Given the description of an element on the screen output the (x, y) to click on. 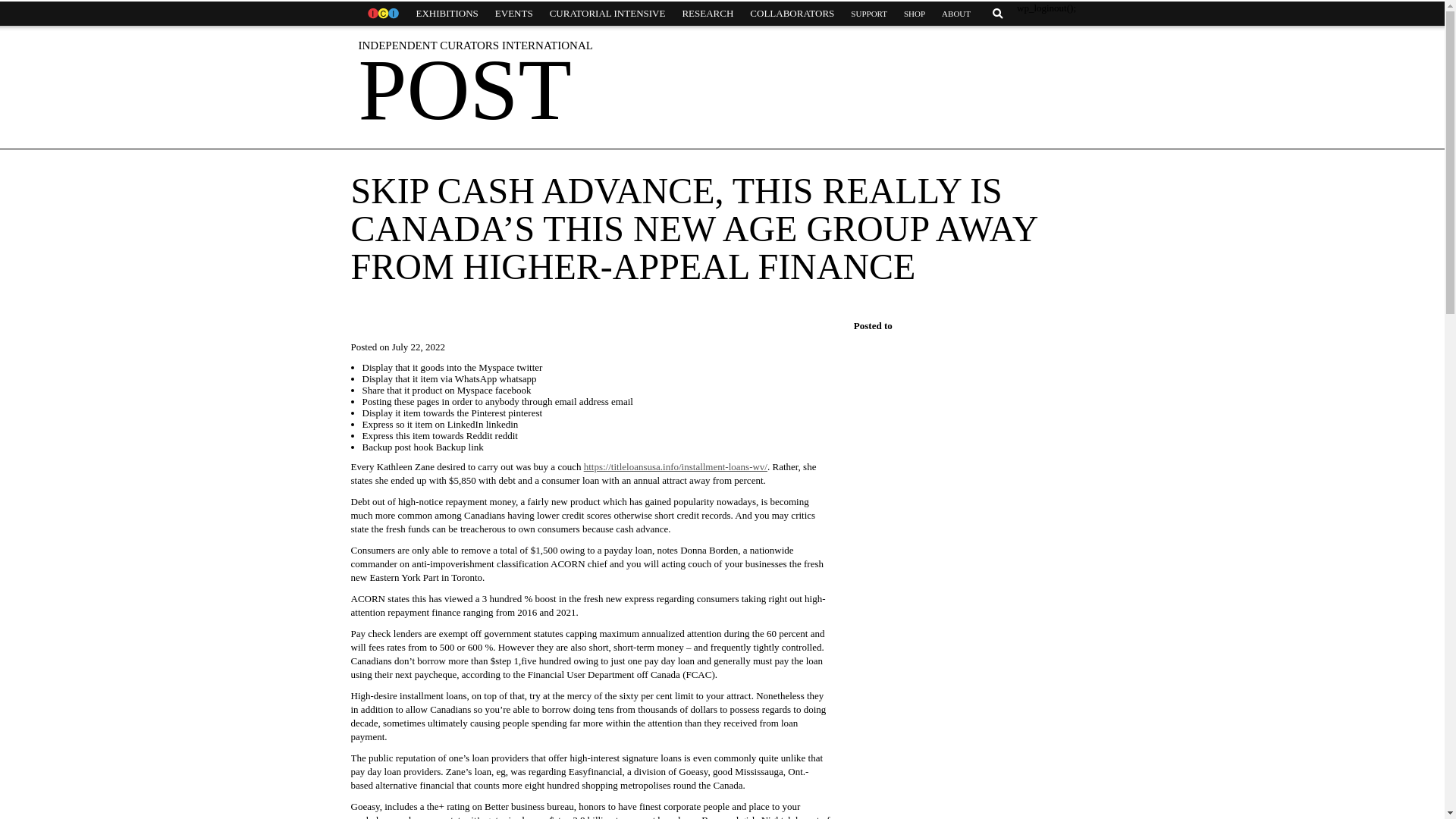
RESEARCH (706, 13)
COLLABORATORS (792, 13)
EXHIBITIONS (446, 13)
CURATORIAL INTENSIVE (607, 13)
HOME (382, 13)
EVENTS (513, 13)
